Given the description of an element on the screen output the (x, y) to click on. 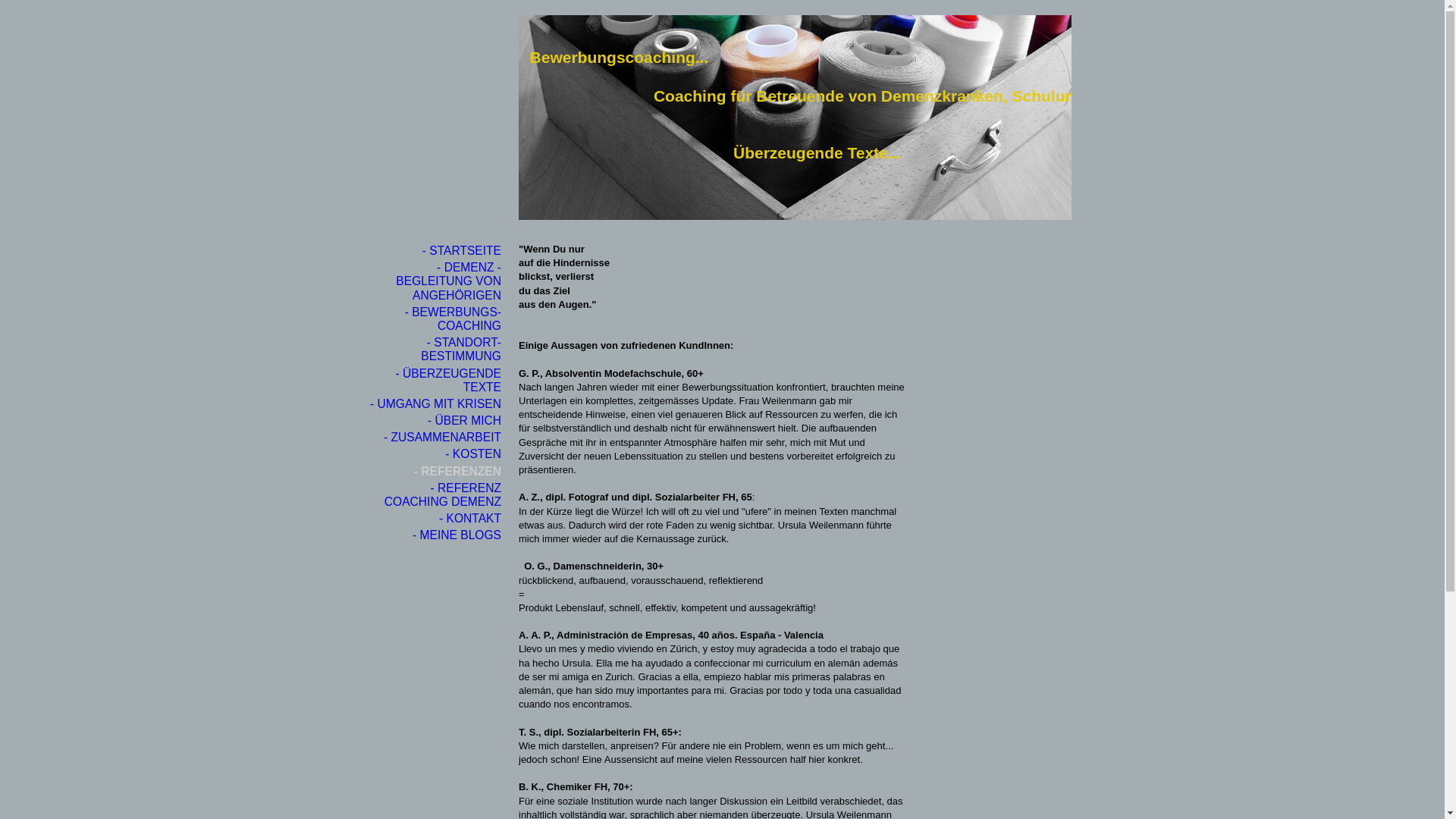
- UMGANG MIT KRISEN Element type: text (436, 403)
- KOSTEN Element type: text (436, 453)
- STANDORT-BESTIMMUNG Element type: text (436, 349)
- BEWERBUNGS-COACHING Element type: text (436, 319)
- MEINE BLOGS Element type: text (436, 535)
- KONTAKT Element type: text (436, 518)
- STARTSEITE Element type: text (436, 250)
- REFERENZ COACHING DEMENZ Element type: text (436, 495)
- REFERENZEN Element type: text (436, 471)
- ZUSAMMENARBEIT Element type: text (436, 437)
